Given the description of an element on the screen output the (x, y) to click on. 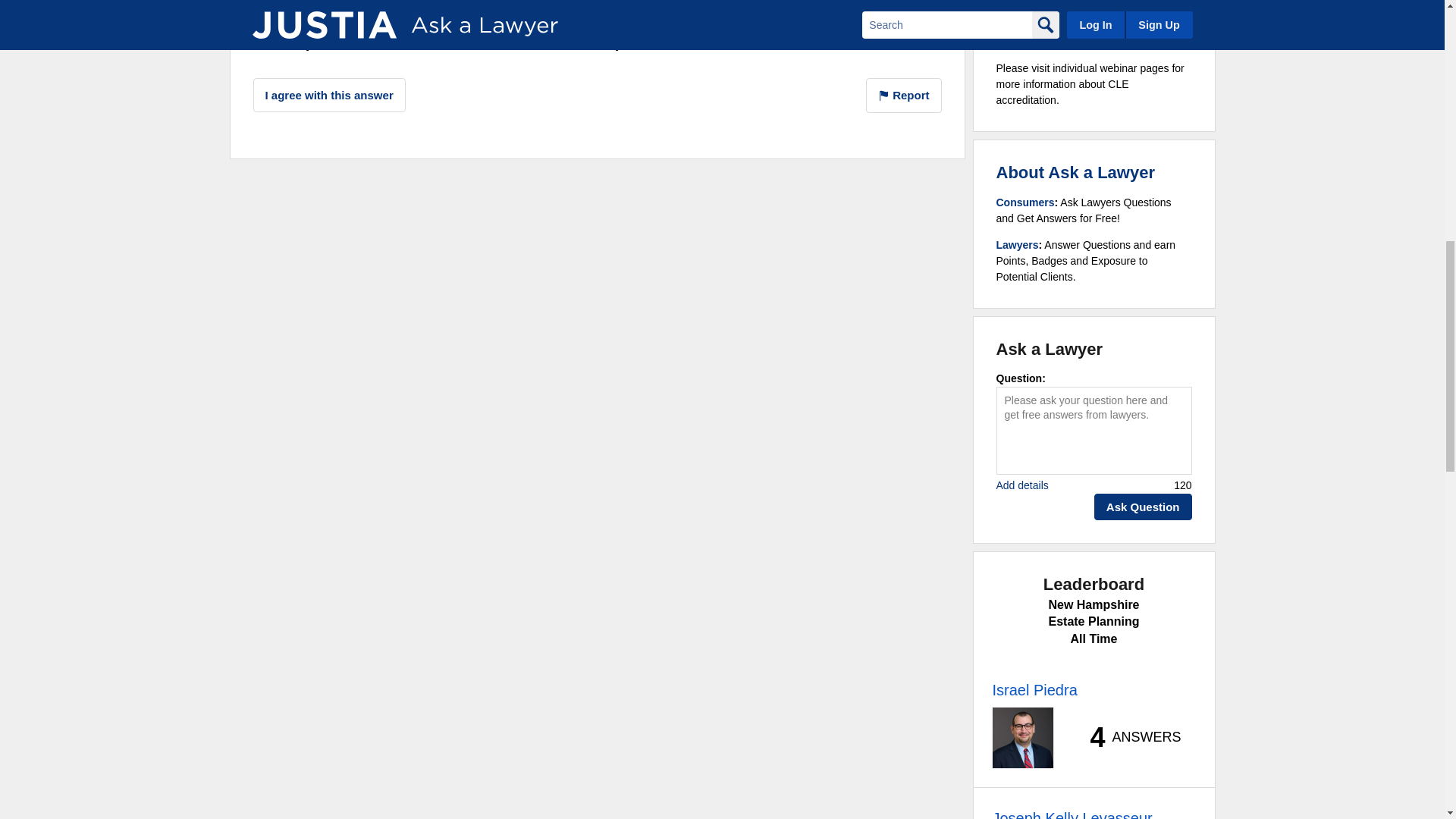
Ask a Lawyer - FAQs - Lawyers (1017, 244)
Ask a Lawyer - FAQs - Consumers (1024, 202)
Ask a Lawyer - Leaderboard - Lawyer Name (1071, 812)
Ask a Lawyer - Leaderboard - Lawyer Stats (1127, 737)
Ask a Lawyer - Leaderboard - Lawyer Name (1034, 689)
Ask a Lawyer - Leaderboard - Lawyer Photo (1021, 737)
